Given the description of an element on the screen output the (x, y) to click on. 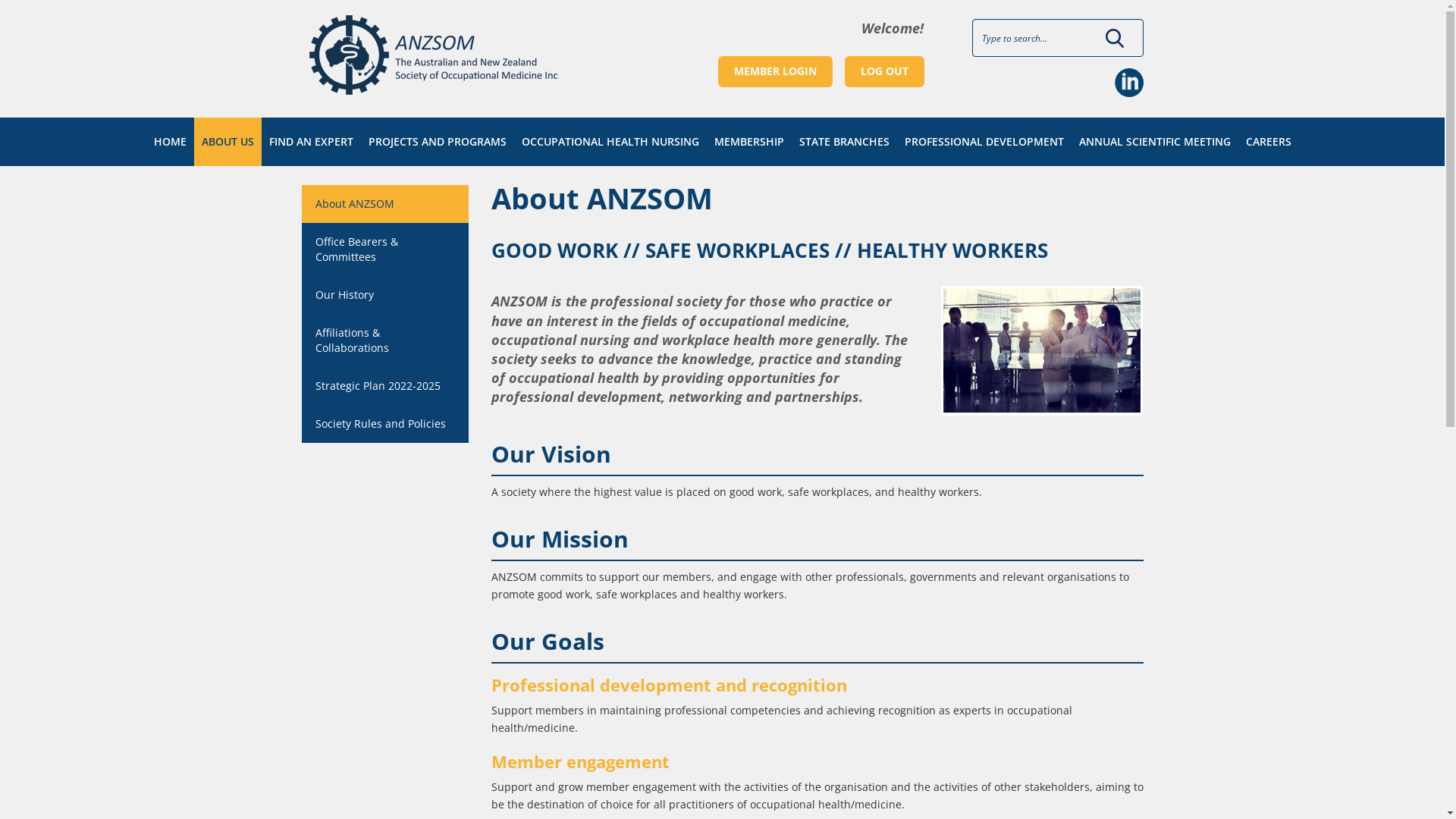
LOG OUT Element type: text (884, 71)
Our History Element type: text (384, 294)
CAREERS Element type: text (1267, 141)
ABOUT US Element type: text (227, 141)
HOME Element type: text (169, 141)
Society Rules and Policies Element type: text (384, 423)
Affiliations & Collaborations Element type: text (384, 340)
Office Bearers & Committees Element type: text (384, 249)
Strategic Plan 2022-2025 Element type: text (384, 385)
MEMBERSHIP Element type: text (748, 141)
PROFESSIONAL DEVELOPMENT Element type: text (983, 141)
ANNUAL SCIENTIFIC MEETING Element type: text (1153, 141)
MEMBER LOGIN Element type: text (774, 71)
STATE BRANCHES Element type: text (844, 141)
FIND AN EXPERT Element type: text (310, 141)
OCCUPATIONAL HEALTH NURSING Element type: text (610, 141)
About ANZSOM Element type: text (384, 203)
